Given the description of an element on the screen output the (x, y) to click on. 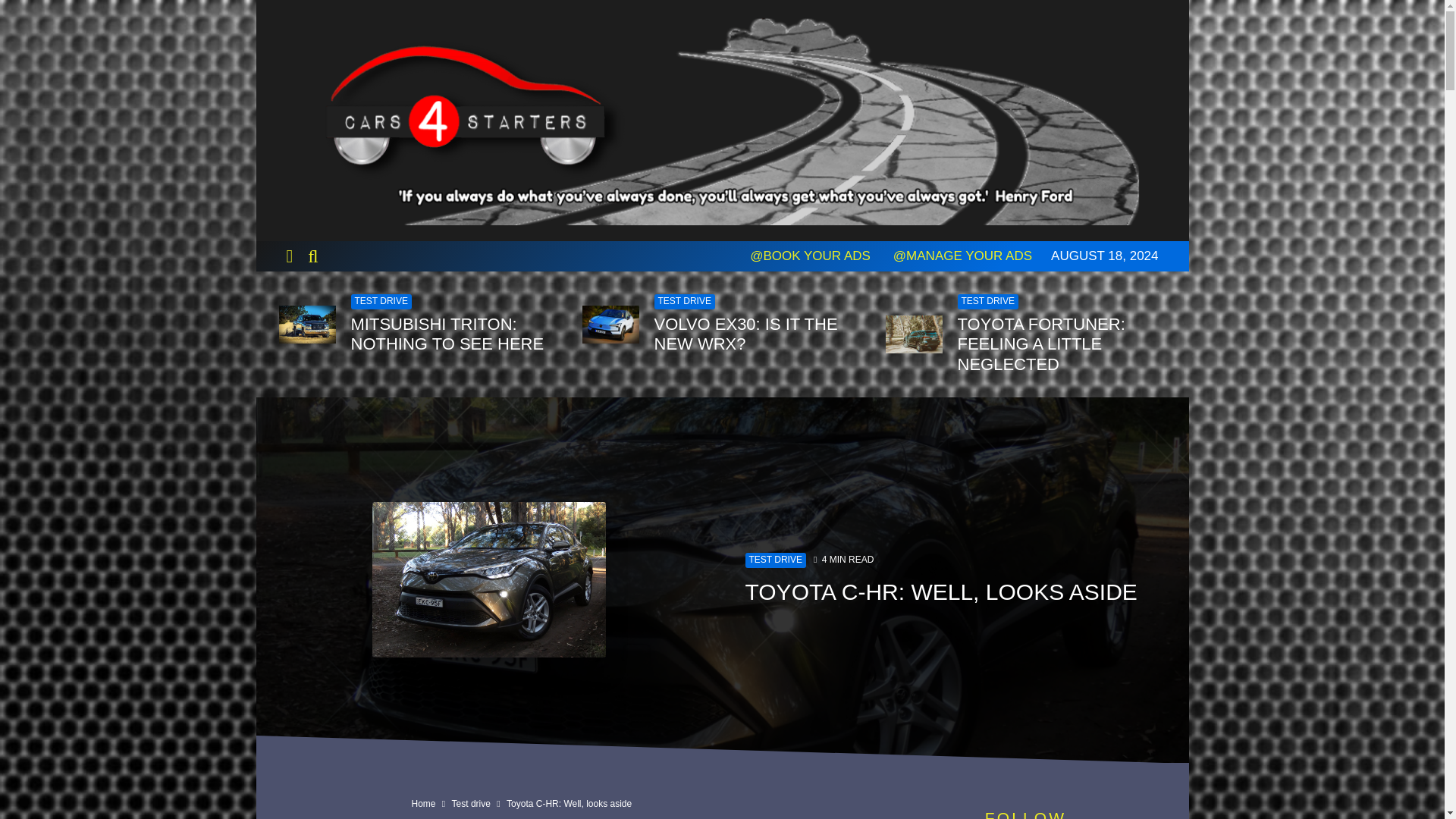
TOYOTA FORTUNER: FEELING A LITTLE NEGLECTED (1061, 344)
MITSUBISHI TRITON: NOTHING TO SEE HERE (454, 334)
Test drive (470, 803)
Toyota C-HR: Well, looks aside 5 (488, 579)
Home (422, 803)
VOLVO EX30: IS IT THE NEW WRX? (757, 334)
TEST DRIVE (380, 301)
TEST DRIVE (986, 301)
TEST DRIVE (774, 560)
